Given the description of an element on the screen output the (x, y) to click on. 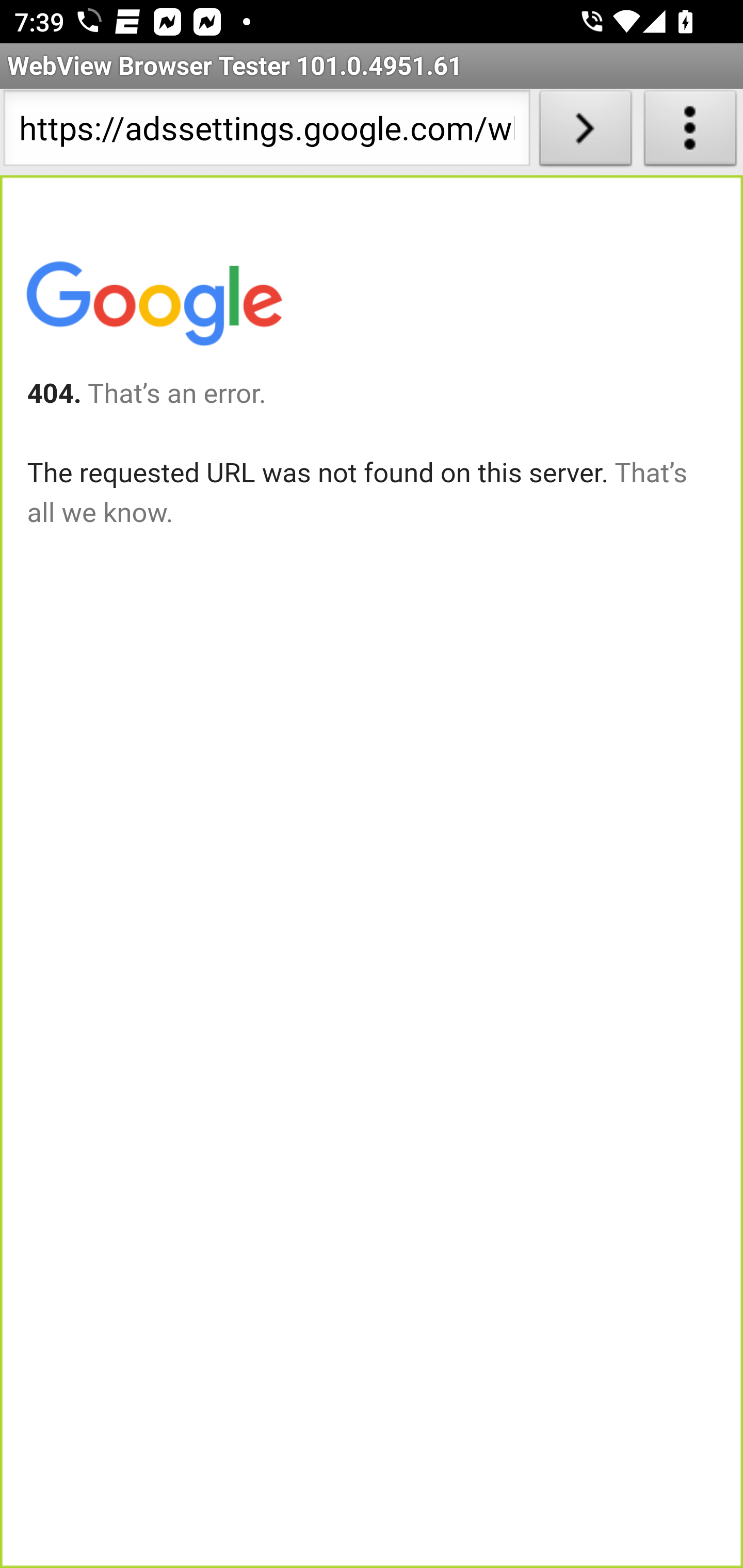
Load URL (585, 132)
About WebView (690, 132)
Google (153, 307)
